Given the description of an element on the screen output the (x, y) to click on. 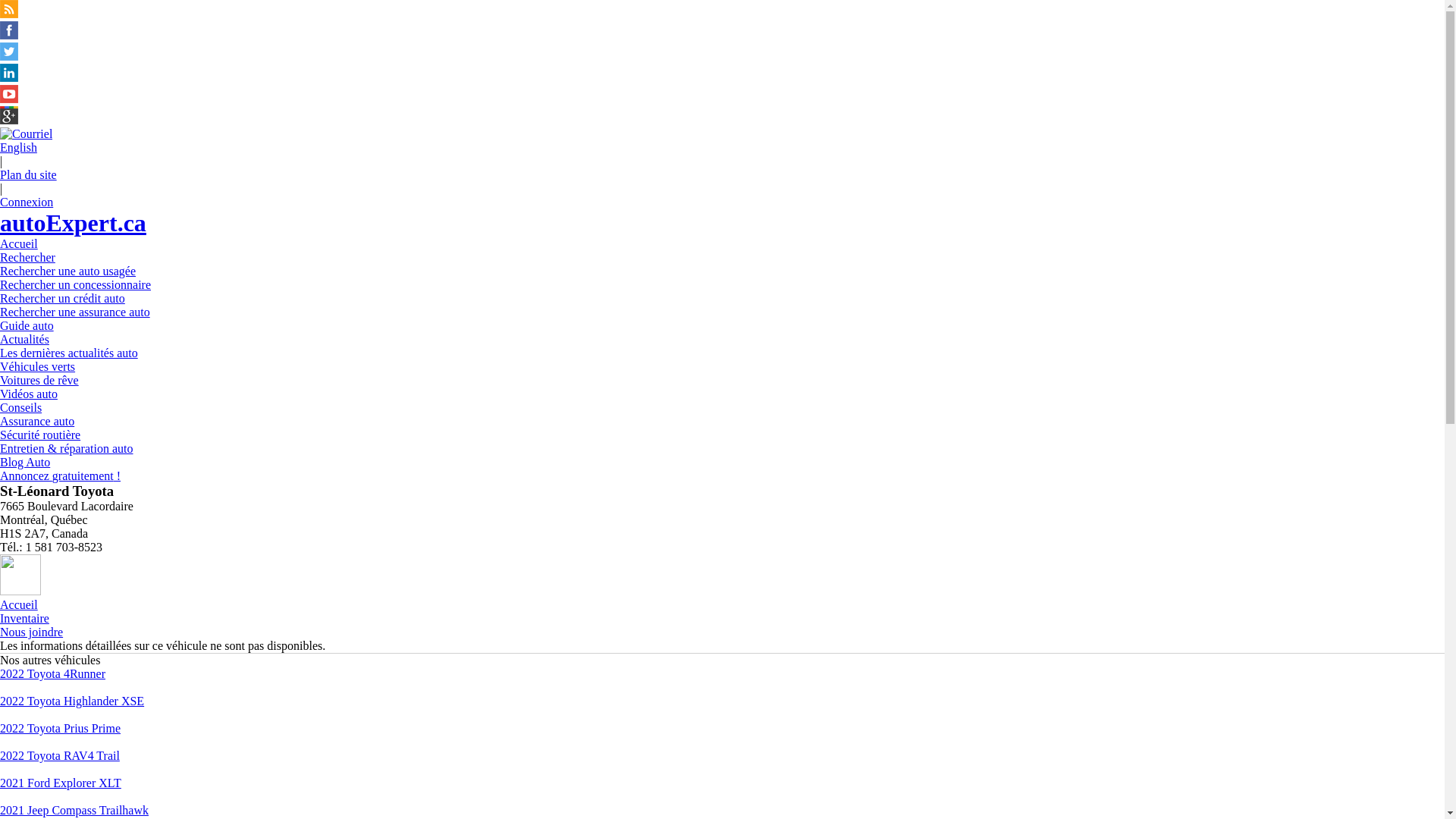
2021 Jeep Compass Trailhawk Element type: text (74, 809)
Assurance auto Element type: text (37, 420)
Inventaire Element type: text (24, 617)
Connexion Element type: text (26, 201)
autoExpert.ca Element type: text (73, 222)
Accueil Element type: text (18, 604)
Accueil Element type: text (18, 243)
Guide auto Element type: text (26, 325)
Rechercher un concessionnaire Element type: text (75, 284)
2022 Toyota Highlander XSE Element type: text (72, 700)
Conseils Element type: text (20, 407)
Suivez Publications Le Guide Inc. sur LinkedIn Element type: hover (9, 77)
Annoncez gratuitement ! Element type: text (60, 475)
Rechercher Element type: text (27, 257)
2022 Toyota RAV4 Trail Element type: text (59, 755)
Joindre autoExpert.ca Element type: hover (26, 133)
English Element type: text (18, 147)
2022 Toyota Prius Prime Element type: text (60, 727)
Suivez autoExpert.ca sur Youtube Element type: hover (9, 98)
Suivez autoExpert.ca sur Facebook Element type: hover (9, 34)
Suivez autoExpert.ca sur Google Plus Element type: hover (9, 119)
Rechercher une assurance auto Element type: text (75, 311)
2022 Toyota 4Runner Element type: text (52, 673)
Blog Auto Element type: text (25, 461)
Suivez autoExpert.ca sur Twitter Element type: hover (9, 56)
Nous joindre Element type: text (31, 631)
Plan du site Element type: text (28, 174)
2021 Ford Explorer XLT Element type: text (60, 782)
